Given the description of an element on the screen output the (x, y) to click on. 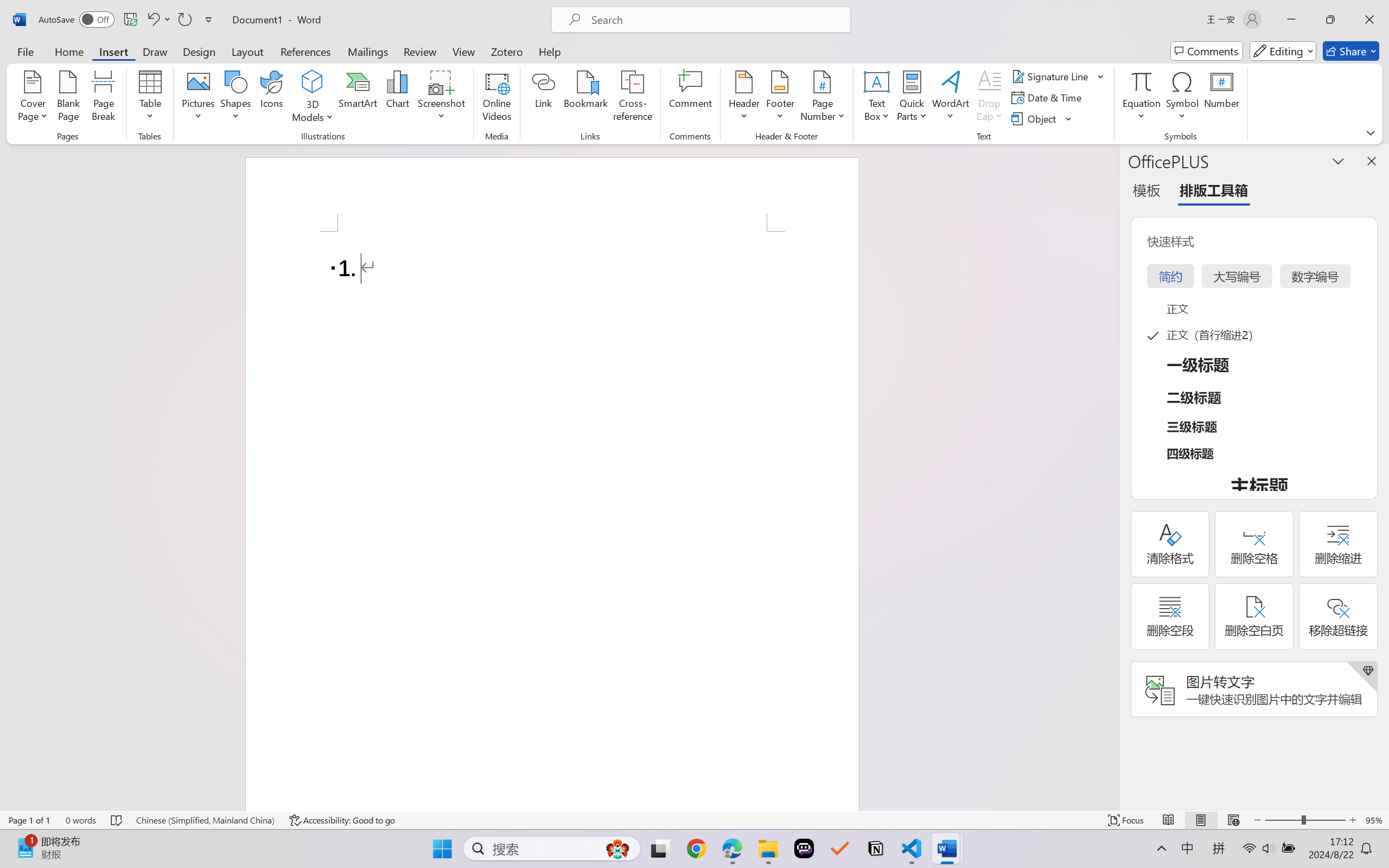
Microsoft search (715, 19)
Pictures (198, 97)
Object... (1035, 118)
Repeat Doc Close (184, 19)
3D Models (312, 81)
Link (543, 97)
